Given the description of an element on the screen output the (x, y) to click on. 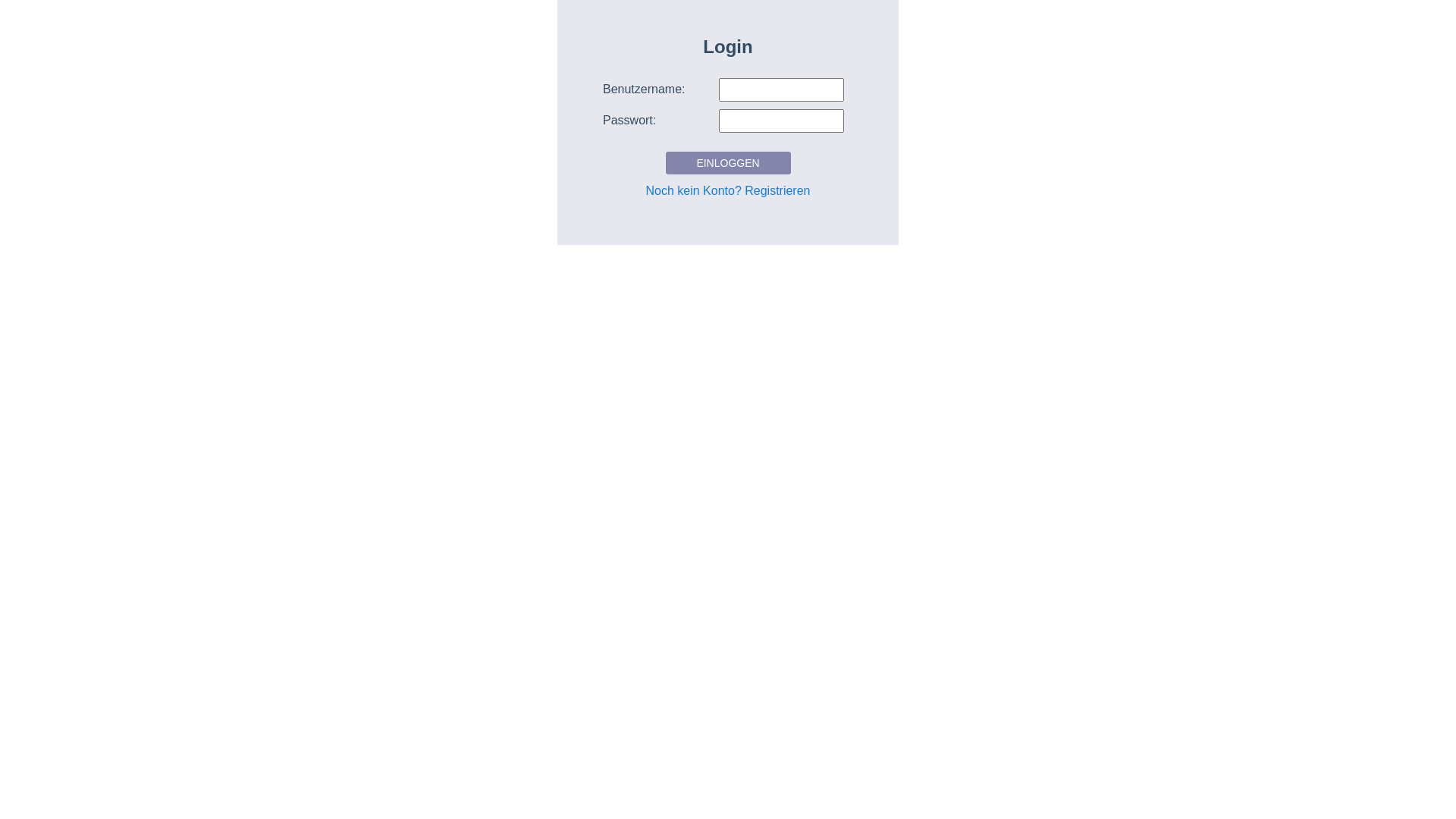
einloggen Element type: text (727, 162)
Noch kein Konto? Registrieren Element type: text (727, 190)
